Given the description of an element on the screen output the (x, y) to click on. 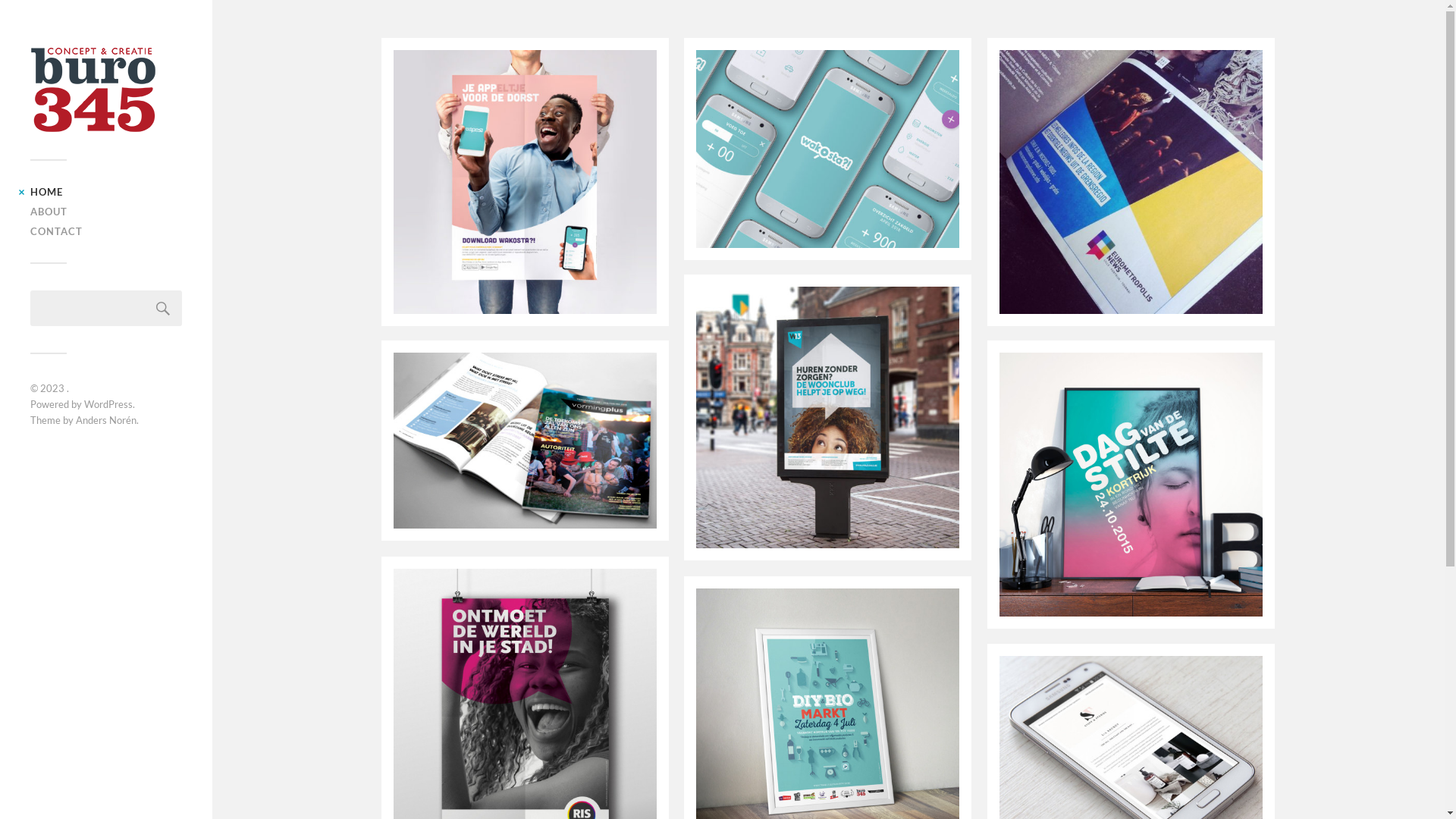
Search Element type: text (163, 308)
ABOUT Element type: text (48, 211)
HOME Element type: text (46, 191)
CONTACT Element type: text (56, 231)
WordPress Element type: text (108, 404)
